Given the description of an element on the screen output the (x, y) to click on. 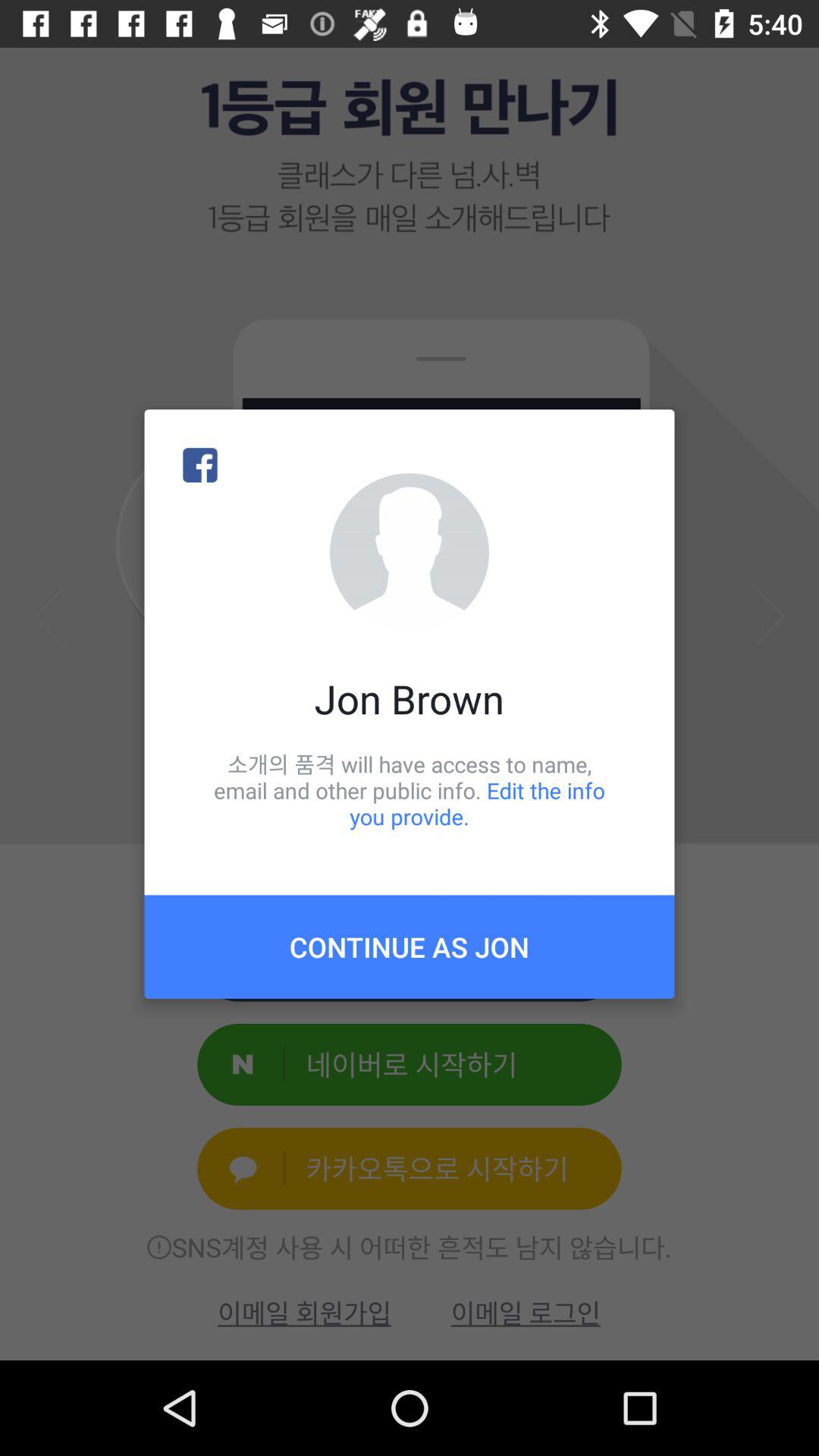
select icon below jon brown (409, 790)
